Given the description of an element on the screen output the (x, y) to click on. 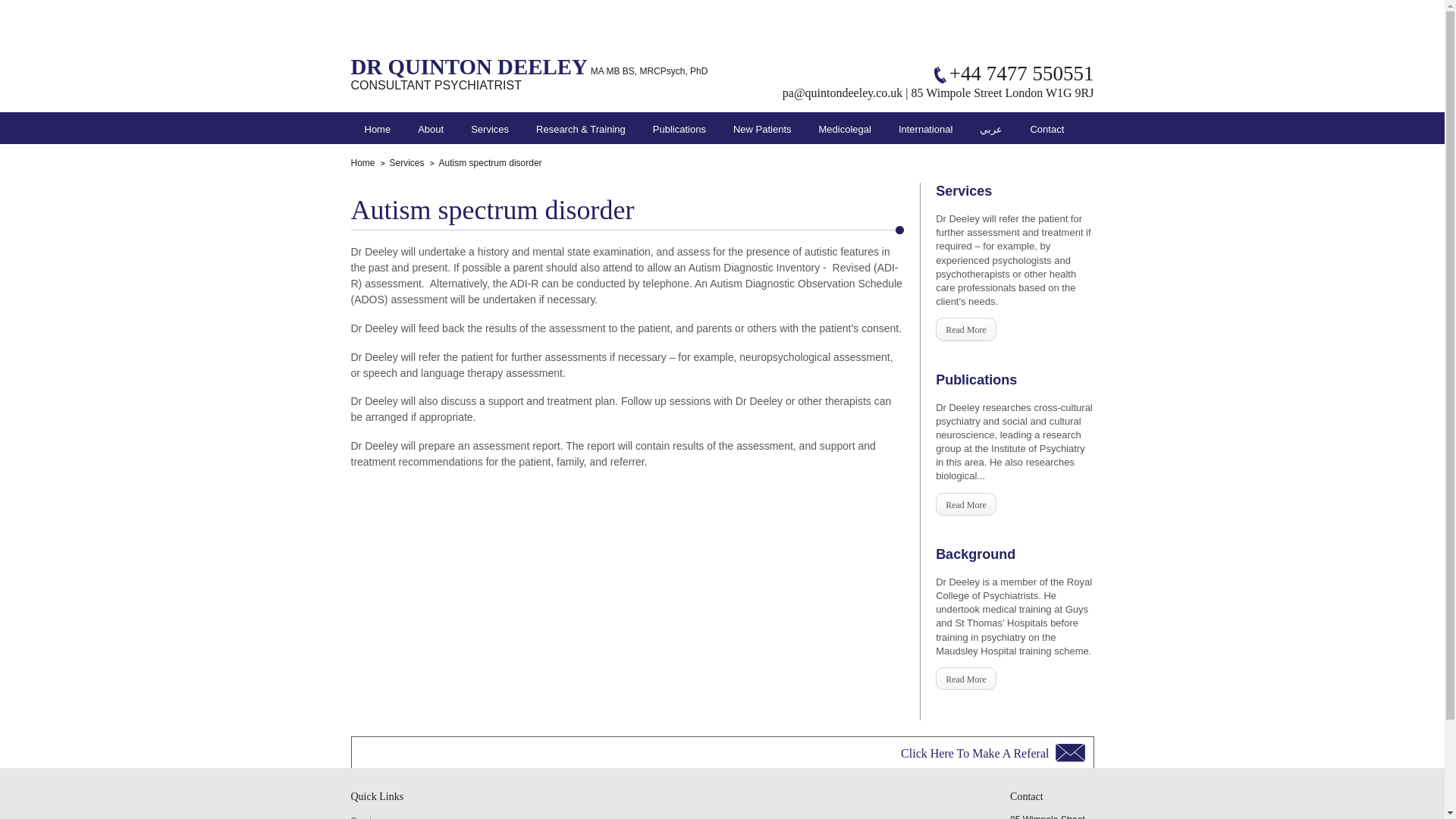
Read More (965, 678)
Publications (679, 127)
Home (362, 163)
Home (377, 127)
Autism spectrum disorder (485, 163)
Services (402, 163)
Medicolegal (844, 127)
New Patients (762, 127)
Services (405, 816)
International (925, 127)
Read More (965, 328)
Services (489, 127)
Read More (965, 504)
About (430, 127)
DR QUINTON DEELEY (468, 66)
